Given the description of an element on the screen output the (x, y) to click on. 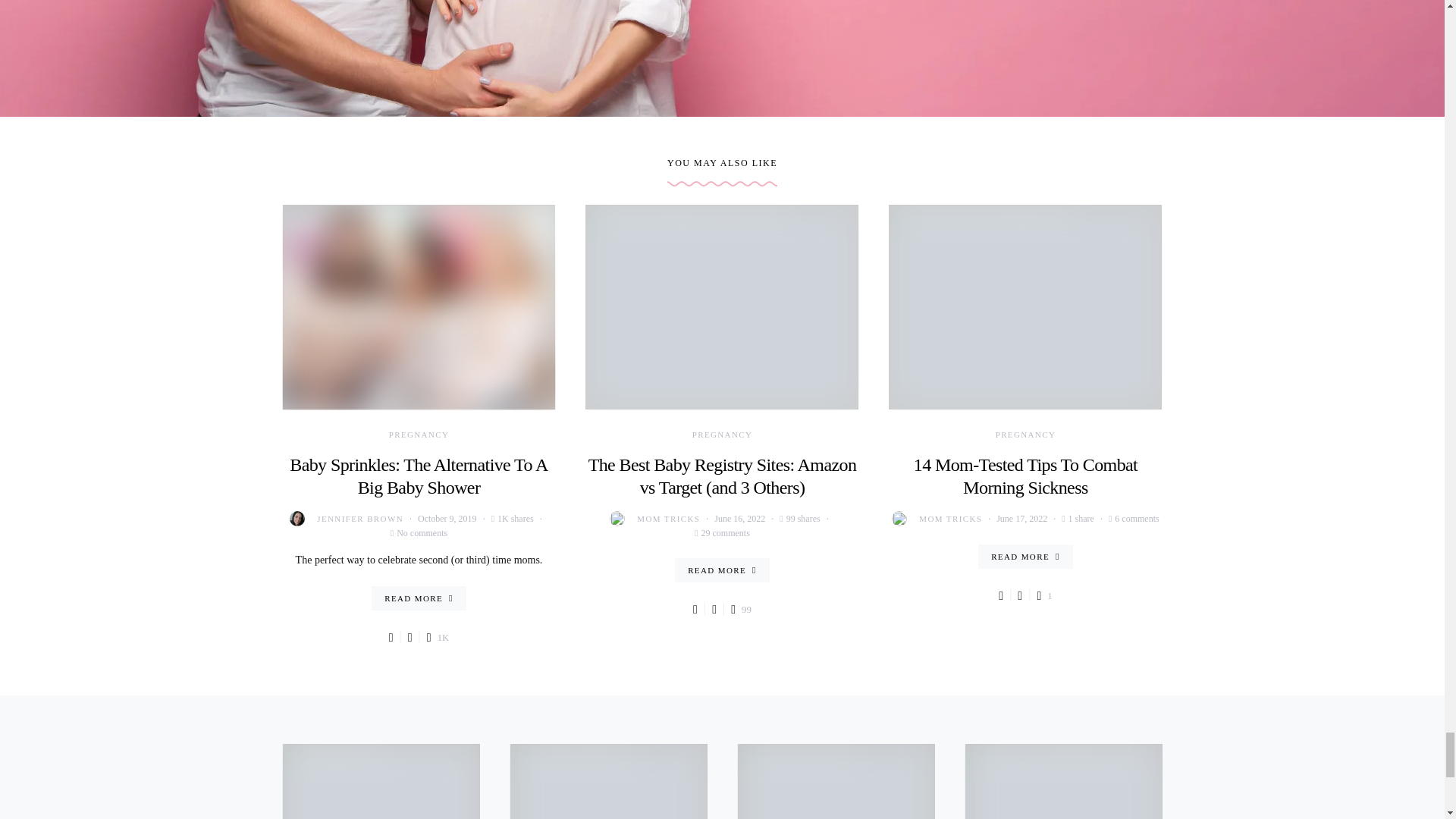
View all posts by Jennifer Brown (346, 518)
View all posts by Mom Tricks (655, 518)
View all posts by Mom Tricks (936, 518)
